Given the description of an element on the screen output the (x, y) to click on. 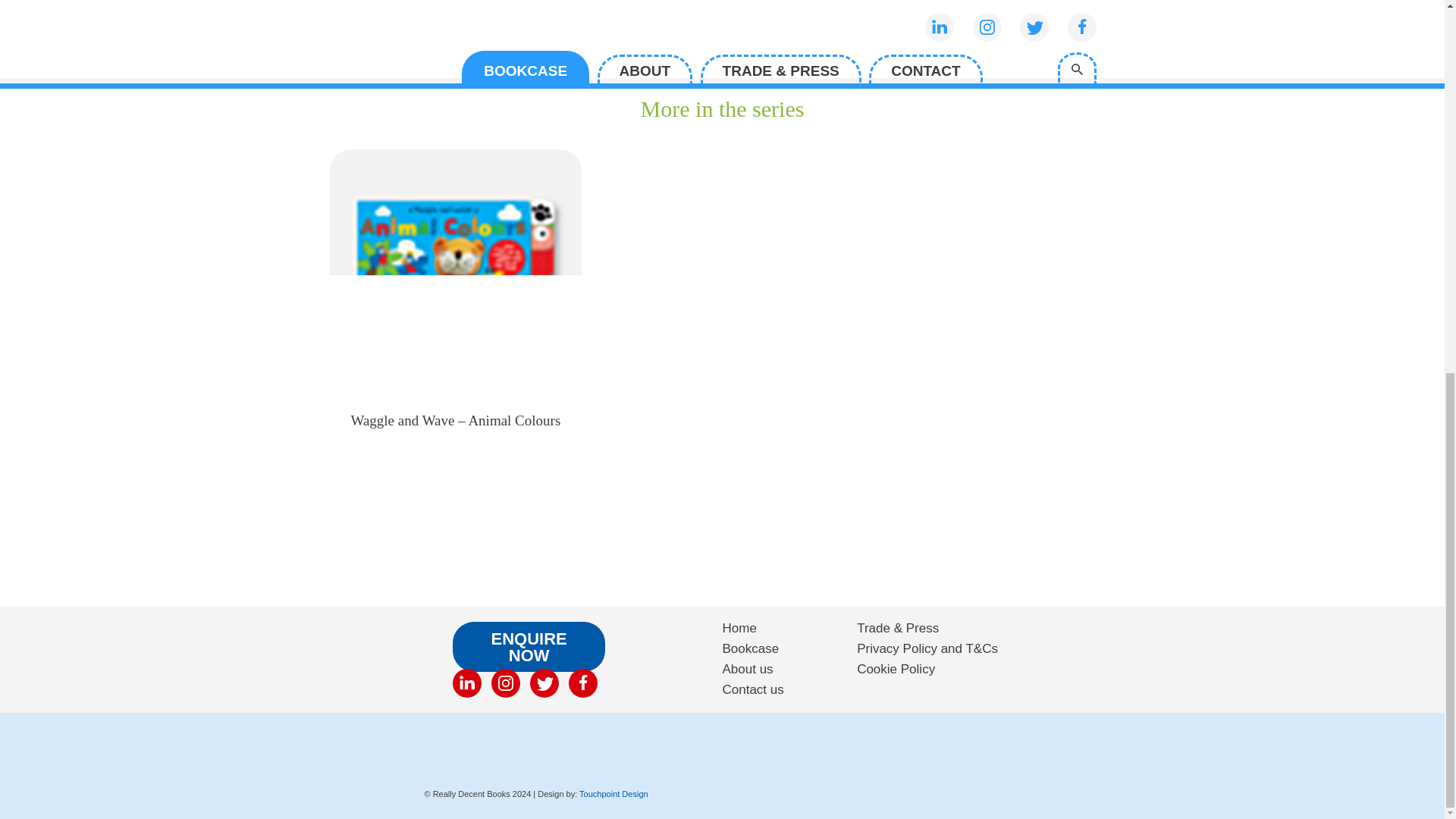
Home (738, 627)
Contact us (752, 689)
Cookie Policy (895, 668)
Bookcase (750, 648)
About us (747, 668)
Touchpoint Design (613, 793)
ENQUIRE NOW (528, 646)
